Given the description of an element on the screen output the (x, y) to click on. 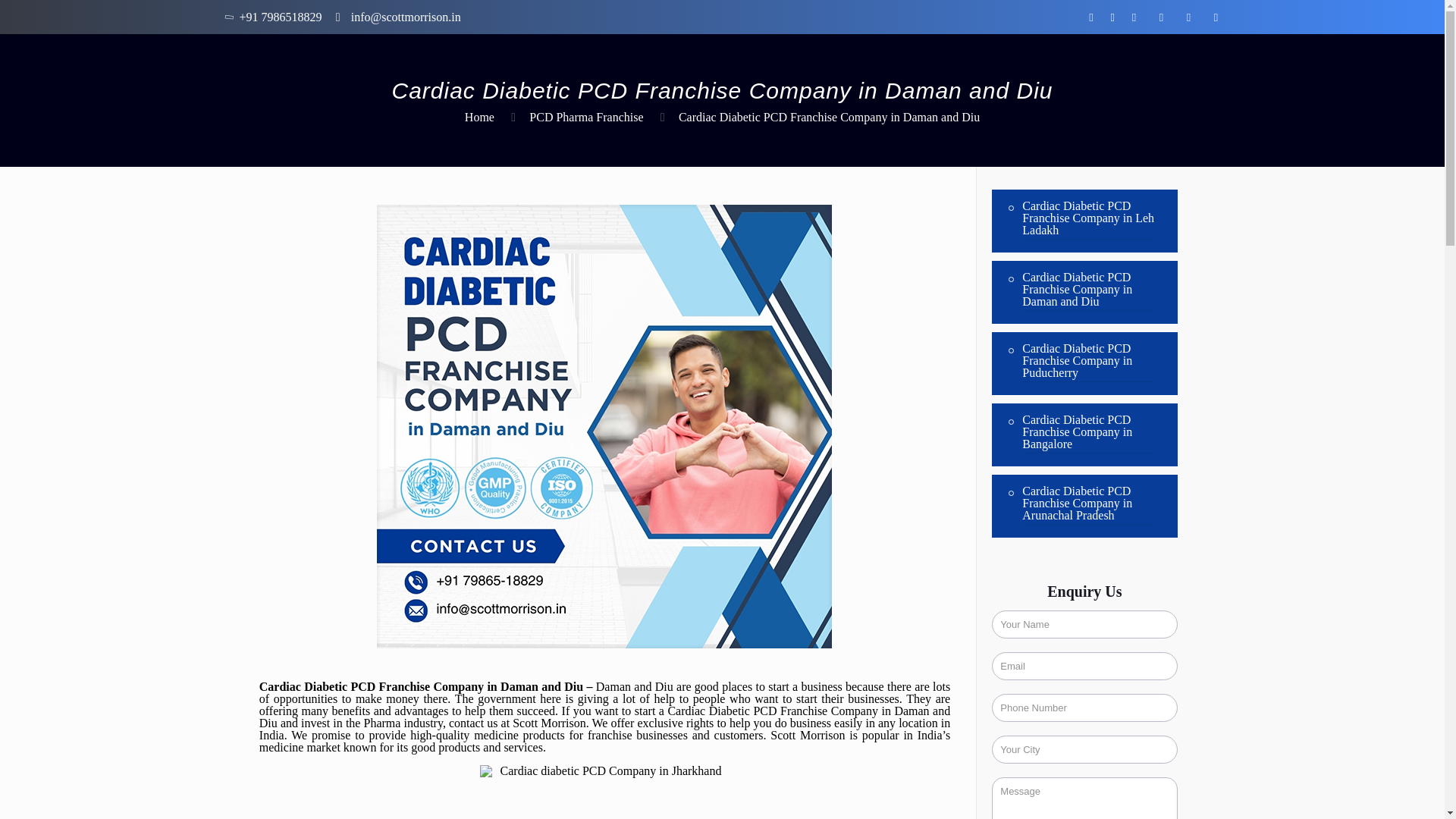
LinkedIn (1133, 17)
Facebook (1091, 17)
Instagram (1188, 17)
Pinterest (1161, 17)
Tumblr (1216, 17)
